Given the description of an element on the screen output the (x, y) to click on. 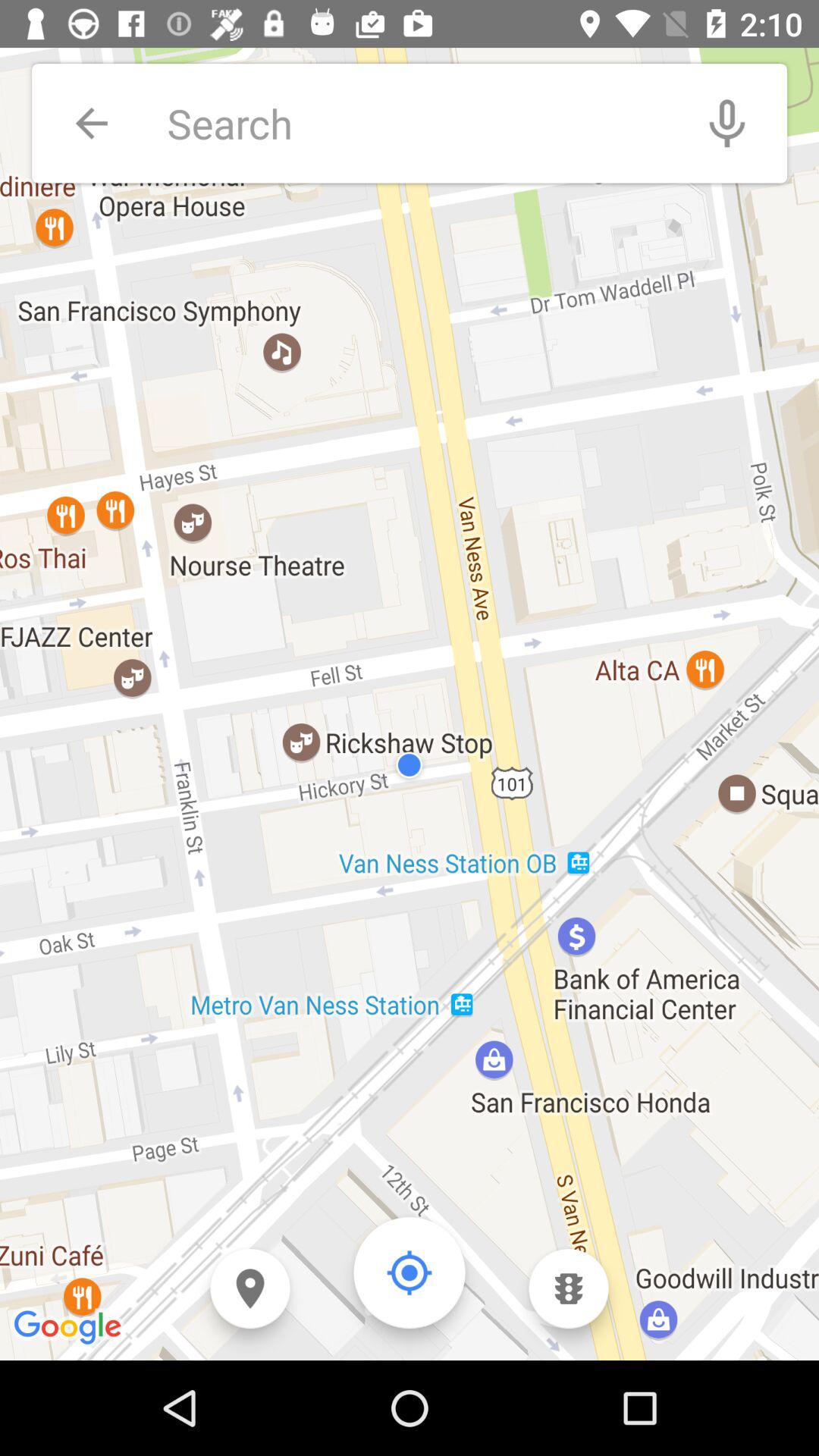
use compass (409, 1272)
